Given the description of an element on the screen output the (x, y) to click on. 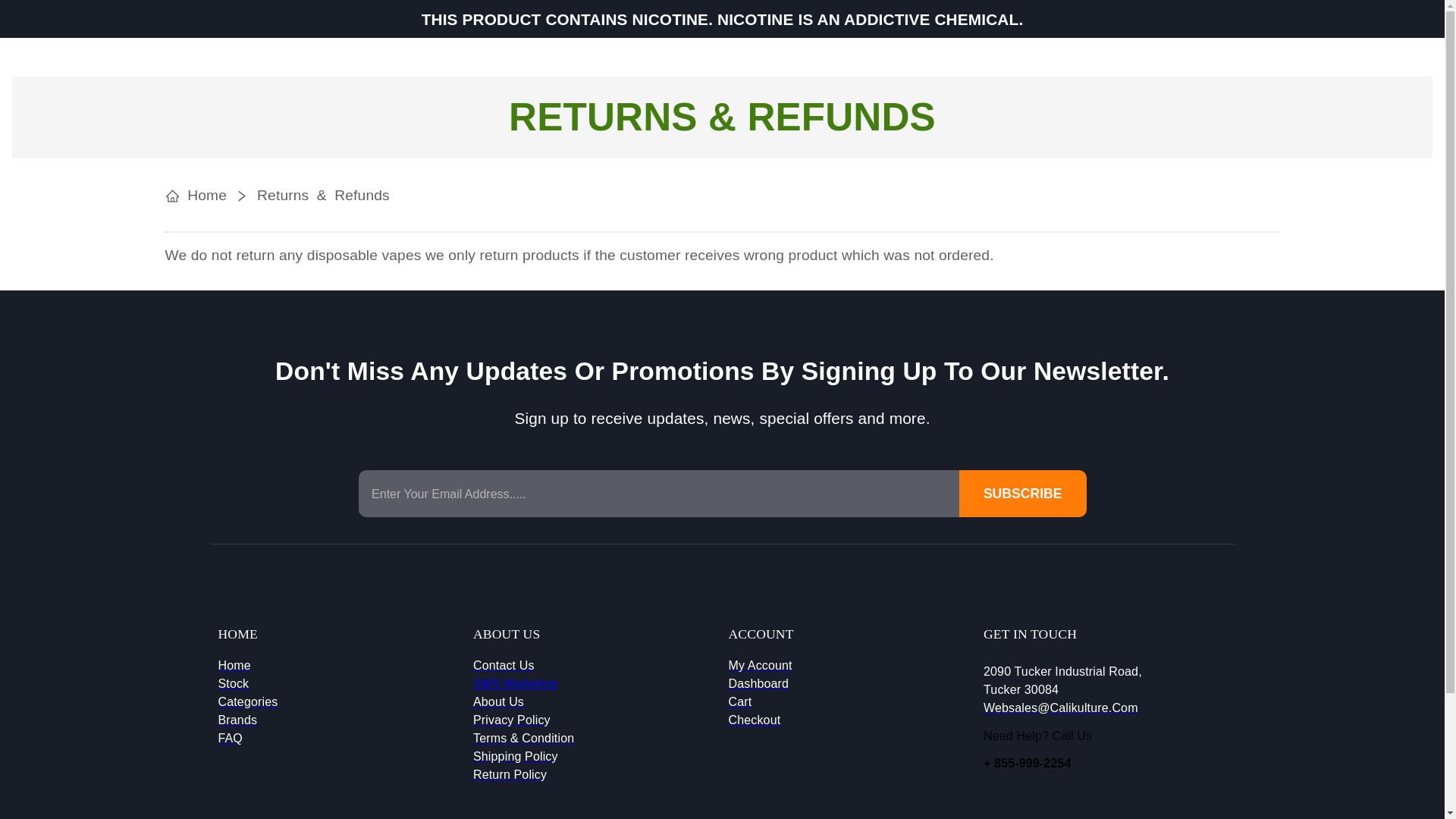
SMS Marketing (515, 683)
Dashboard (760, 683)
Privacy Policy (523, 720)
SUBSCRIBE (1022, 493)
Stock (248, 683)
Categories (248, 701)
Brands (248, 720)
About Us (523, 701)
Home (248, 665)
Shipping Policy (523, 756)
Return Policy (523, 774)
Checkout (760, 720)
Cart (760, 701)
FAQ (248, 738)
My Account (760, 665)
